Given the description of an element on the screen output the (x, y) to click on. 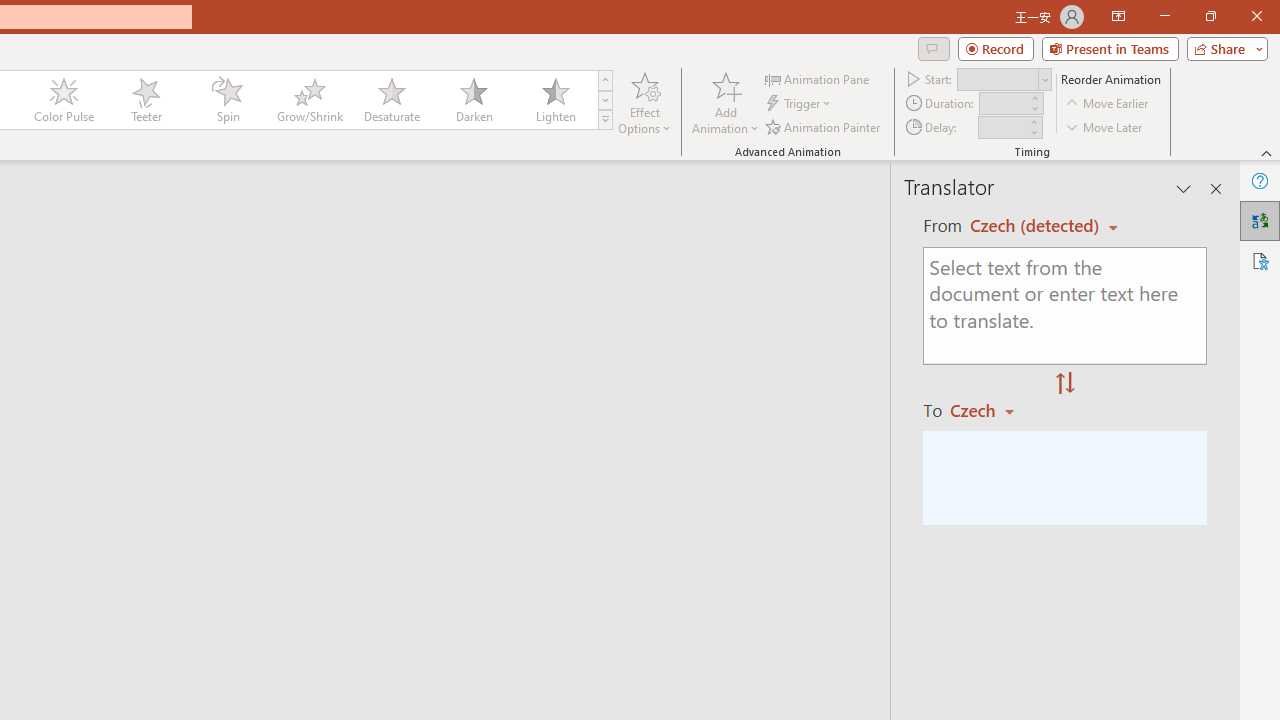
Effect Options (644, 102)
Animation Painter (824, 126)
Animation Duration (1003, 103)
Color Pulse (63, 100)
Add Animation (725, 102)
